Given the description of an element on the screen output the (x, y) to click on. 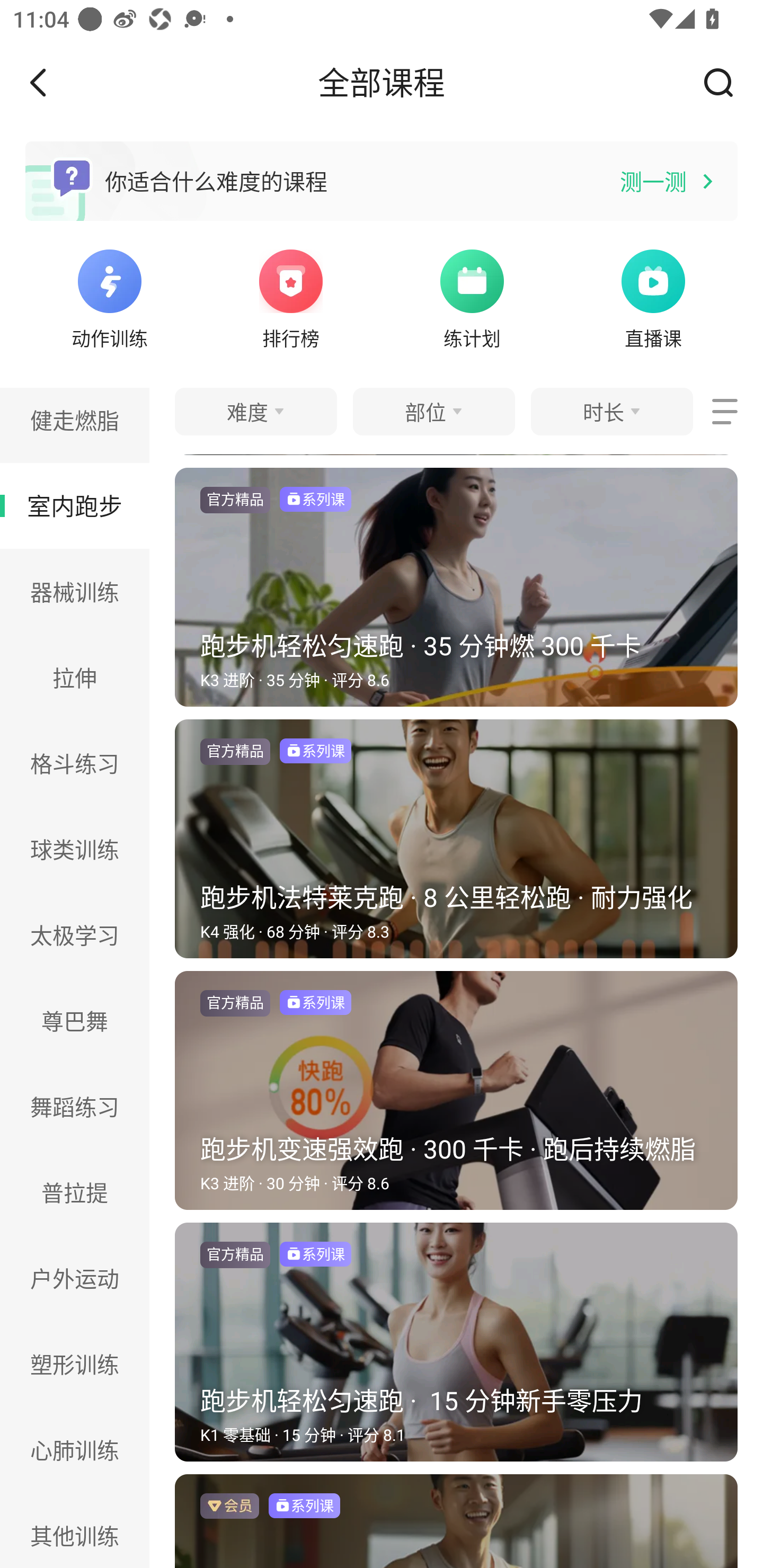
Left Button In Title Bar (50, 82)
Right Button In Title Bar (724, 82)
你适合什么难度的课程 测一测 (381, 181)
动作训练 (109, 297)
排行榜 (290, 297)
练计划 (471, 297)
直播课 (653, 297)
健走燃脂 (74, 424)
难度 (255, 411)
部位 (433, 411)
时长 (611, 411)
室内跑步 (74, 505)
器械训练 (74, 591)
拉伸 (74, 677)
格斗练习 (74, 762)
球类训练 (74, 848)
太极学习 (74, 935)
尊巴舞 (74, 1020)
舞蹈练习 (74, 1106)
普拉提 (74, 1192)
户外运动 (74, 1278)
塑形训练 (74, 1363)
心肺训练 (74, 1449)
其他训练 (74, 1530)
